Given the description of an element on the screen output the (x, y) to click on. 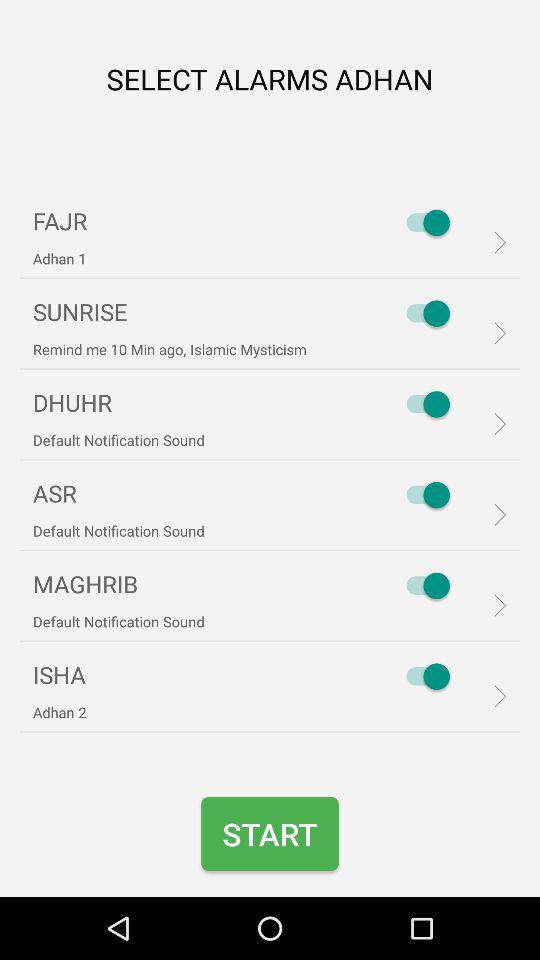
notification sound (423, 585)
